Given the description of an element on the screen output the (x, y) to click on. 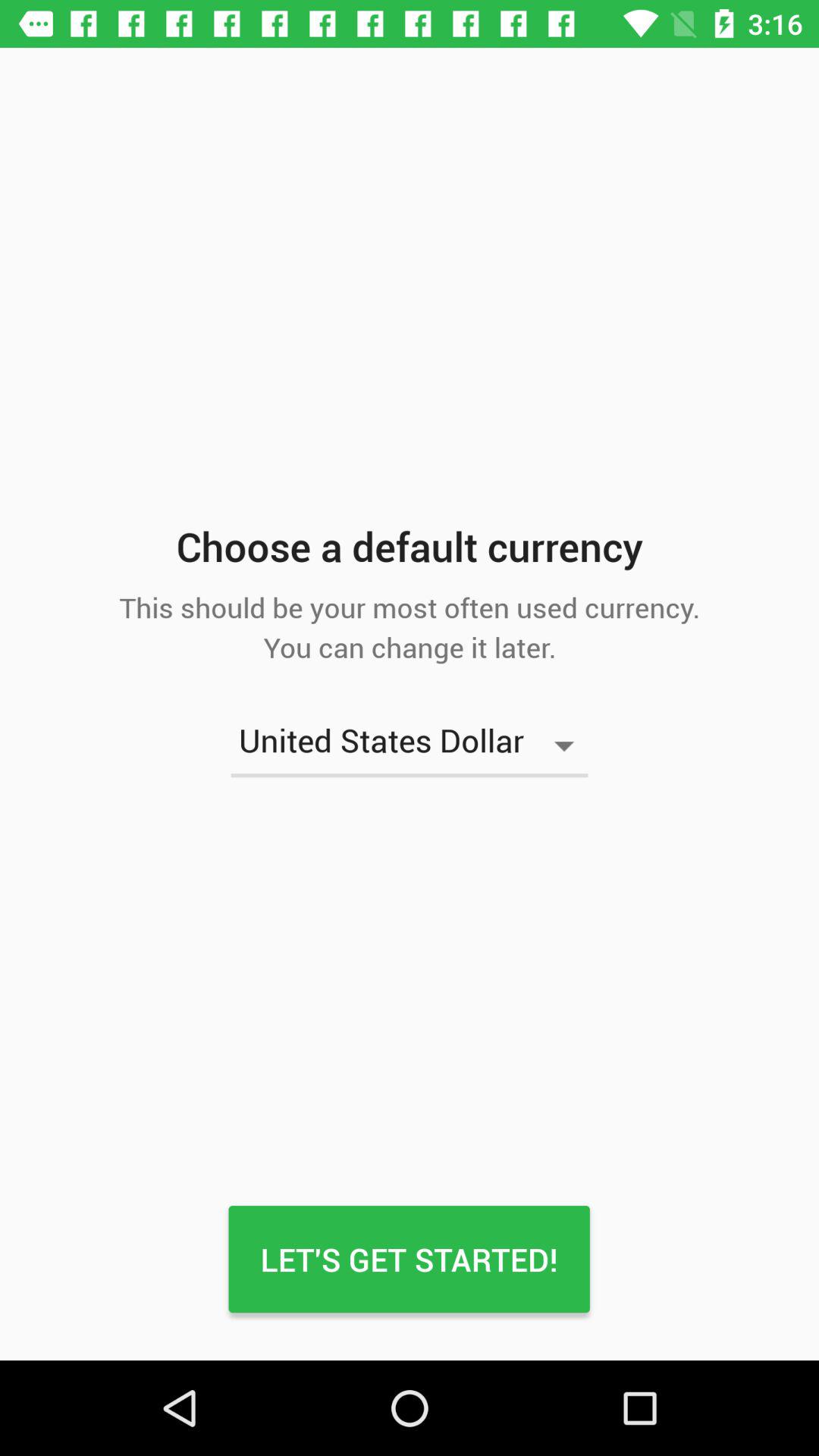
launch united states dollar icon (409, 745)
